Given the description of an element on the screen output the (x, y) to click on. 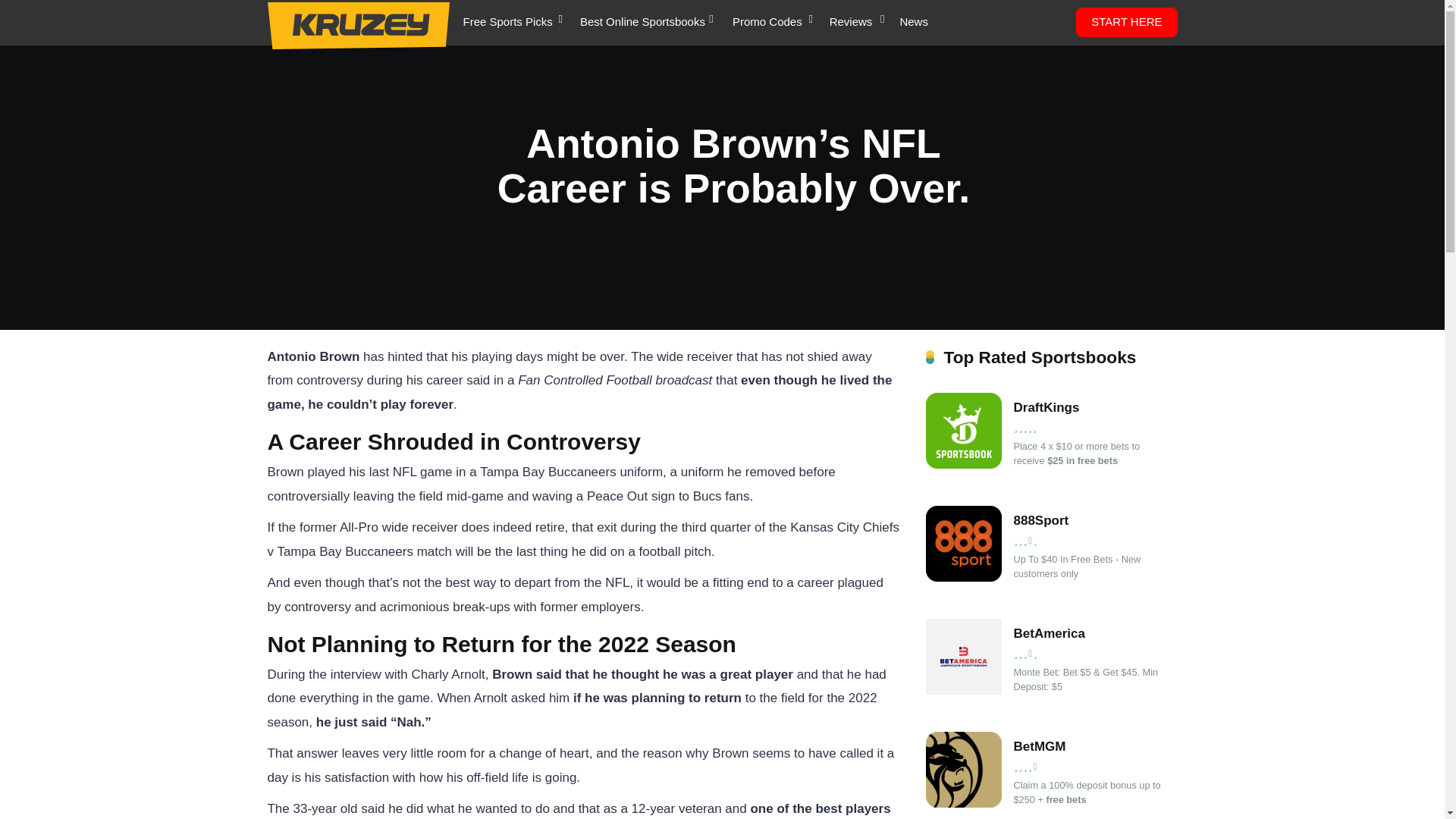
KRUZEY (357, 25)
DraftKings (963, 464)
BetMGM (1089, 746)
BetAmerica (963, 690)
BetAmerica (1089, 633)
888Sport (963, 577)
Free Sports Picks (507, 22)
Promo Codes (767, 22)
BetMGM (963, 803)
888Sport (1089, 520)
